Given the description of an element on the screen output the (x, y) to click on. 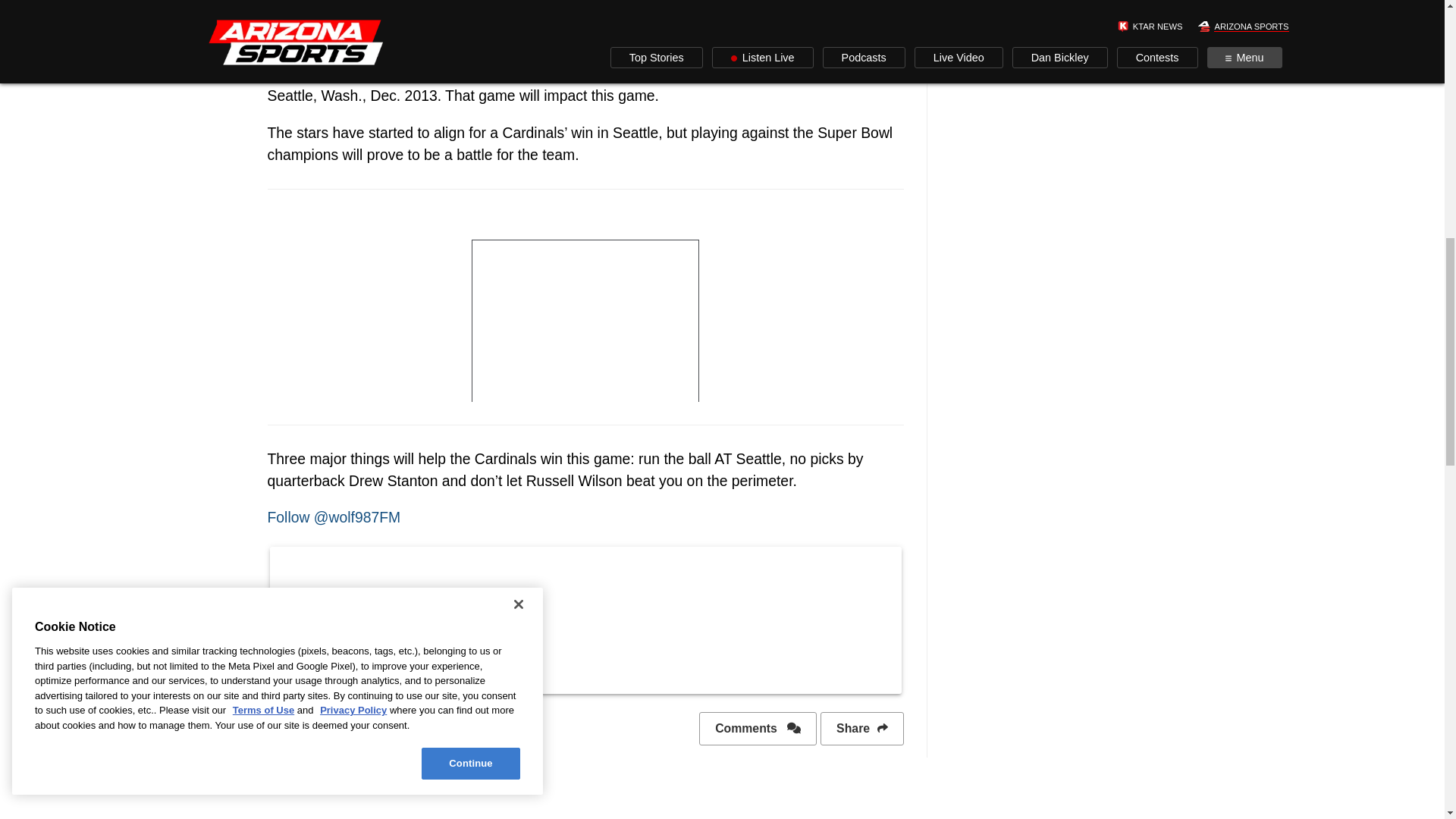
3rd party ad content (584, 307)
Signup Widget Embed (585, 617)
